Given the description of an element on the screen output the (x, y) to click on. 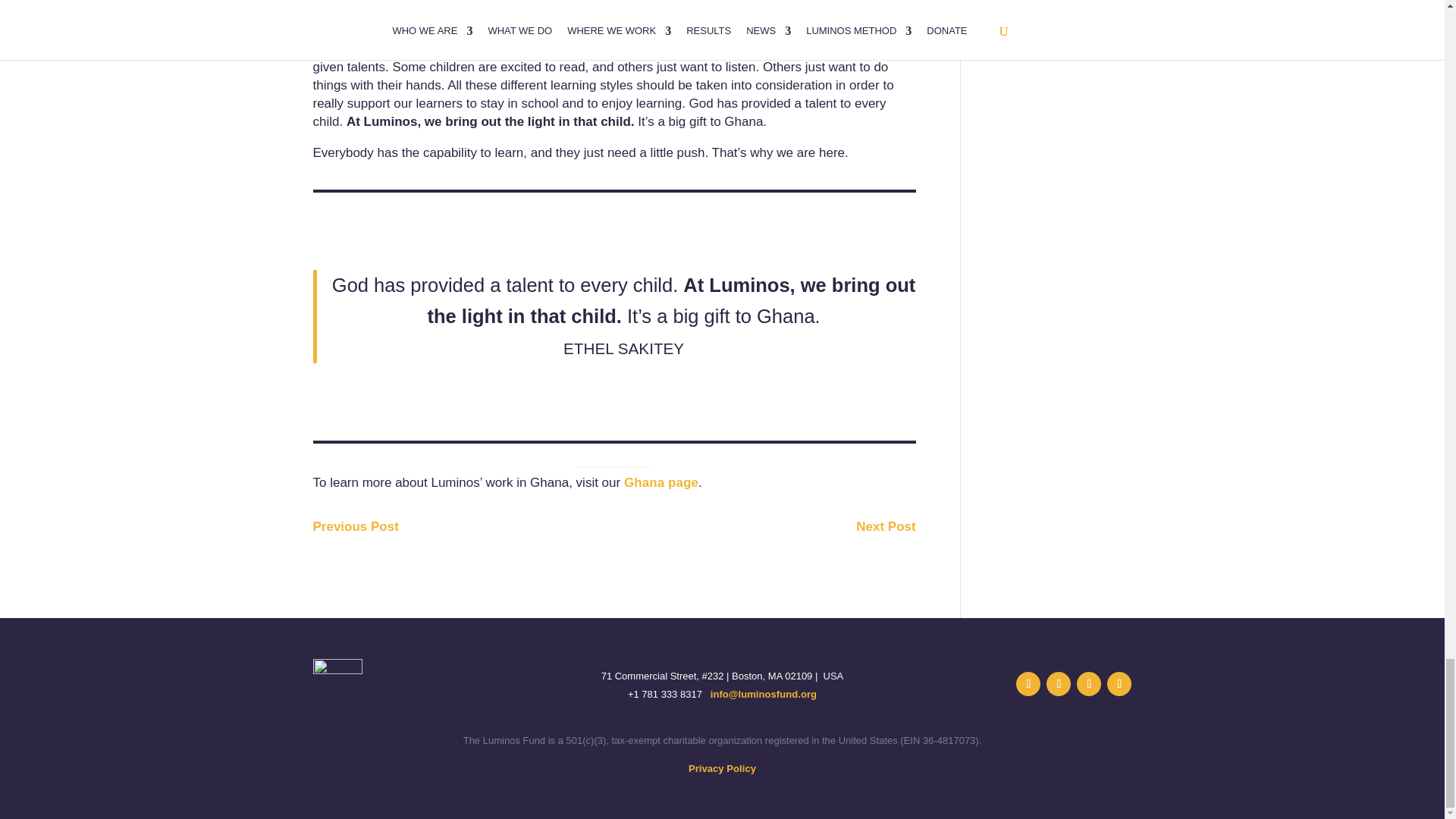
Next Post (885, 526)
Follow on Instagram (1118, 683)
Follow on LinkedIn (1058, 683)
Follow on Facebook (1088, 683)
Previous Post (355, 526)
Privacy Policy (721, 767)
Follow on X (1028, 683)
Ghana page (661, 482)
